Given the description of an element on the screen output the (x, y) to click on. 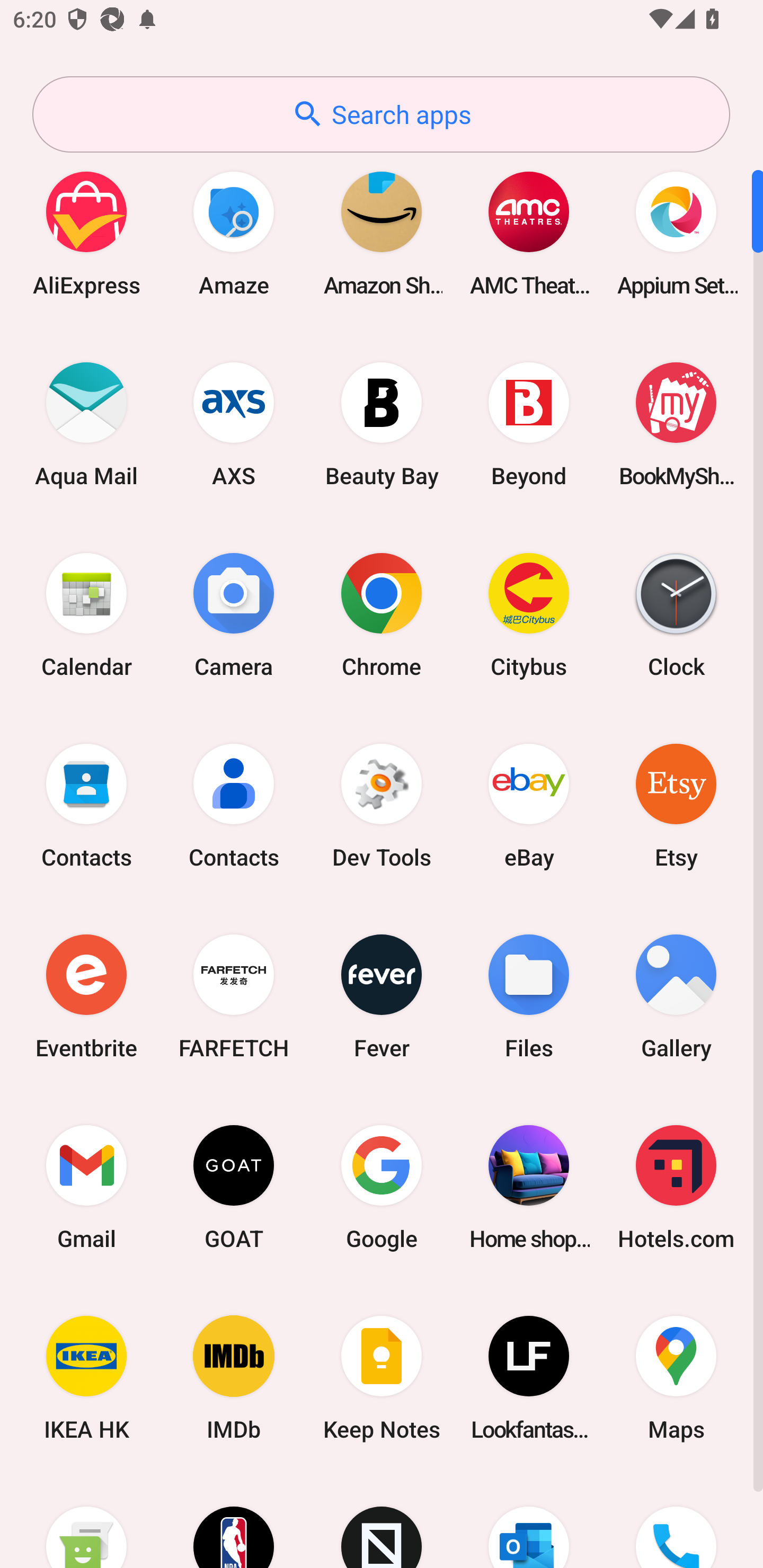
  Search apps (381, 114)
AliExpress (86, 233)
Amaze (233, 233)
Amazon Shopping (381, 233)
AMC Theatres (528, 233)
Appium Settings (676, 233)
Aqua Mail (86, 424)
AXS (233, 424)
Beauty Bay (381, 424)
Beyond (528, 424)
BookMyShow (676, 424)
Calendar (86, 614)
Camera (233, 614)
Chrome (381, 614)
Citybus (528, 614)
Clock (676, 614)
Contacts (86, 805)
Contacts (233, 805)
Dev Tools (381, 805)
eBay (528, 805)
Etsy (676, 805)
Eventbrite (86, 996)
FARFETCH (233, 996)
Fever (381, 996)
Files (528, 996)
Gallery (676, 996)
Gmail (86, 1186)
GOAT (233, 1186)
Google (381, 1186)
Home shopping (528, 1186)
Hotels.com (676, 1186)
IKEA HK (86, 1377)
IMDb (233, 1377)
Keep Notes (381, 1377)
Lookfantastic (528, 1377)
Maps (676, 1377)
